Given the description of an element on the screen output the (x, y) to click on. 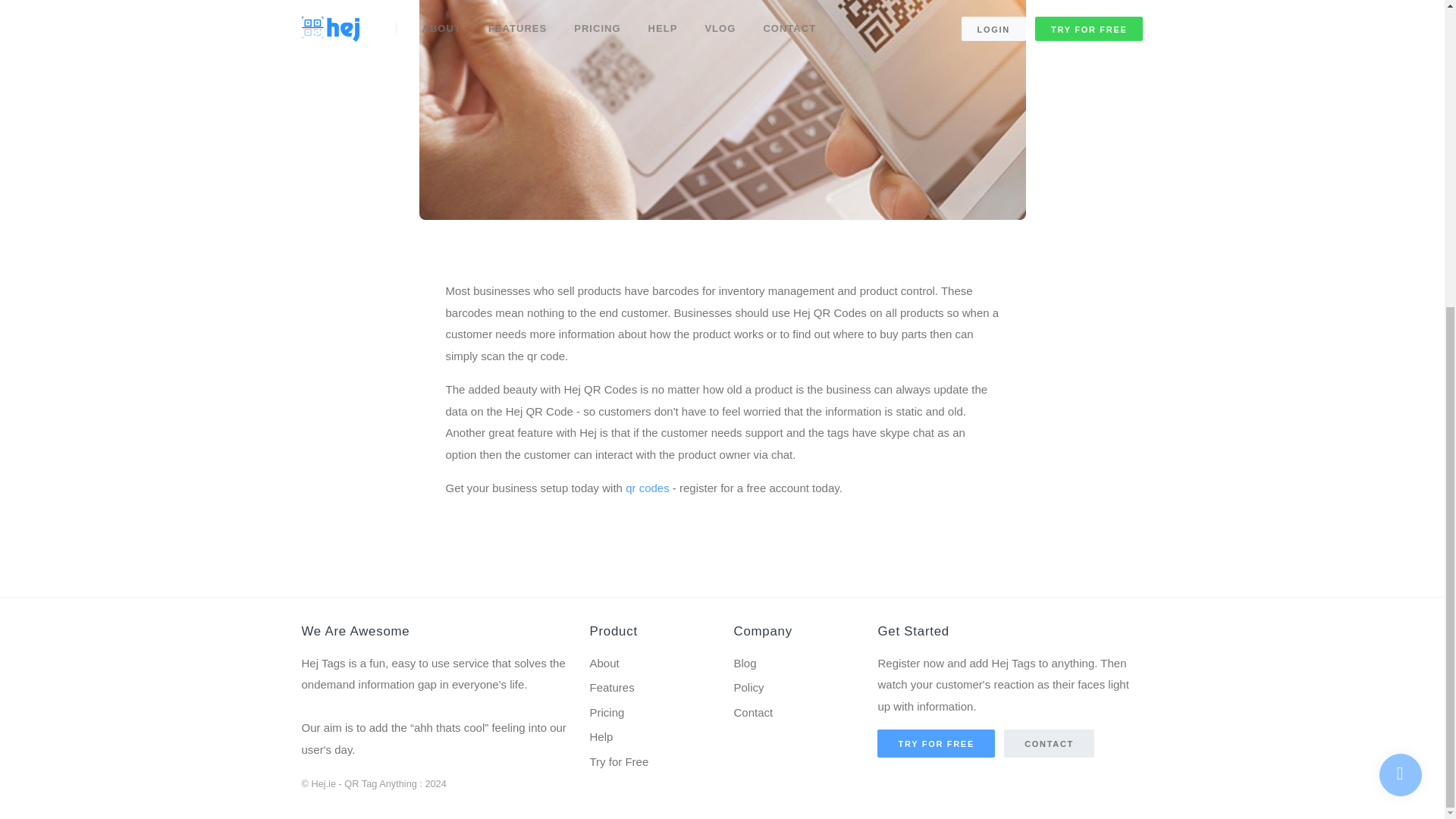
Policy (793, 688)
Blog (793, 664)
Contact (793, 713)
qr codes (647, 487)
TRY FOR FREE (935, 743)
Try for Free (649, 762)
About (649, 664)
Features (649, 688)
CONTACT (1049, 743)
Pricing (649, 713)
